Given the description of an element on the screen output the (x, y) to click on. 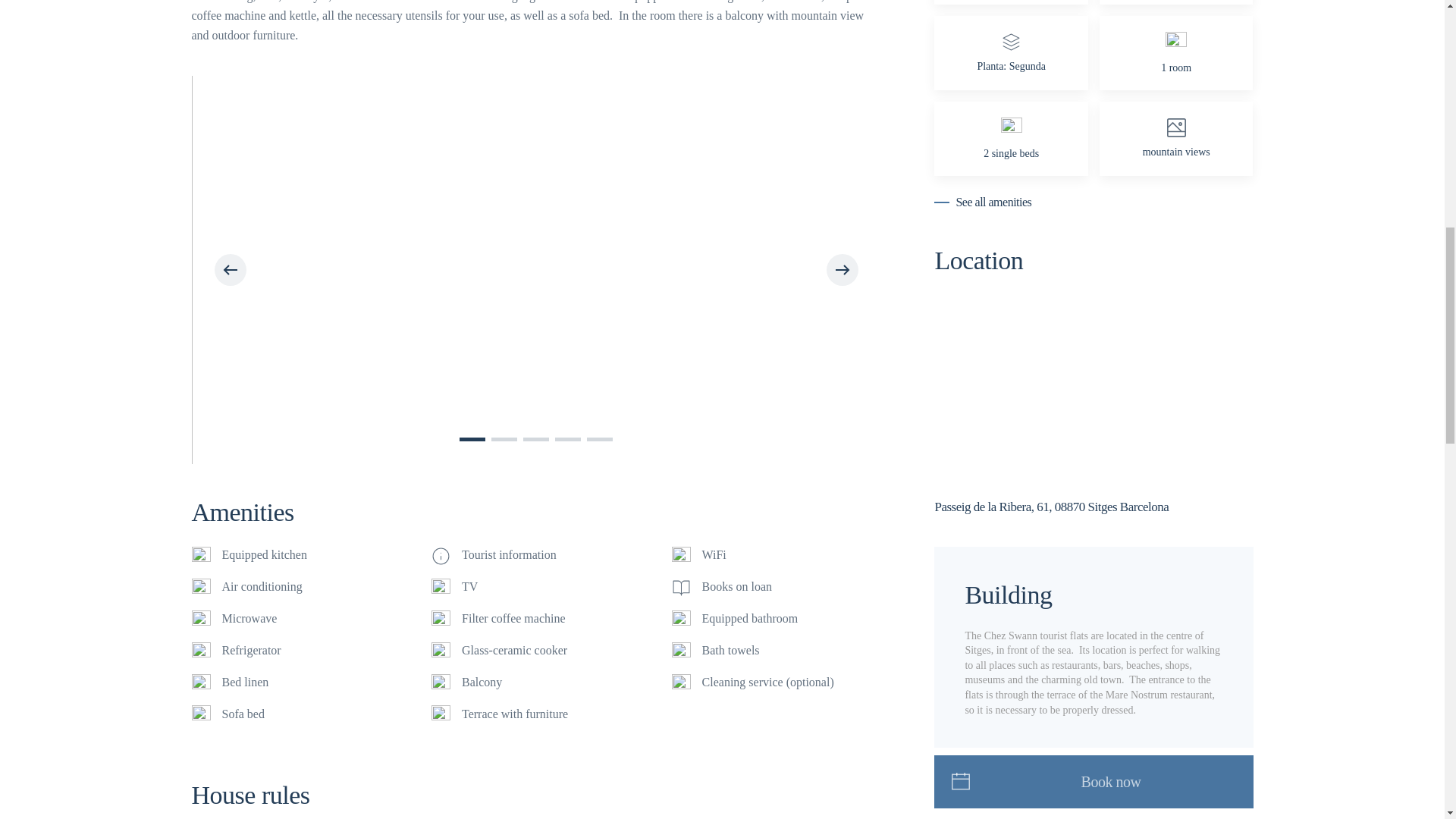
See all the amenities (982, 202)
